Given the description of an element on the screen output the (x, y) to click on. 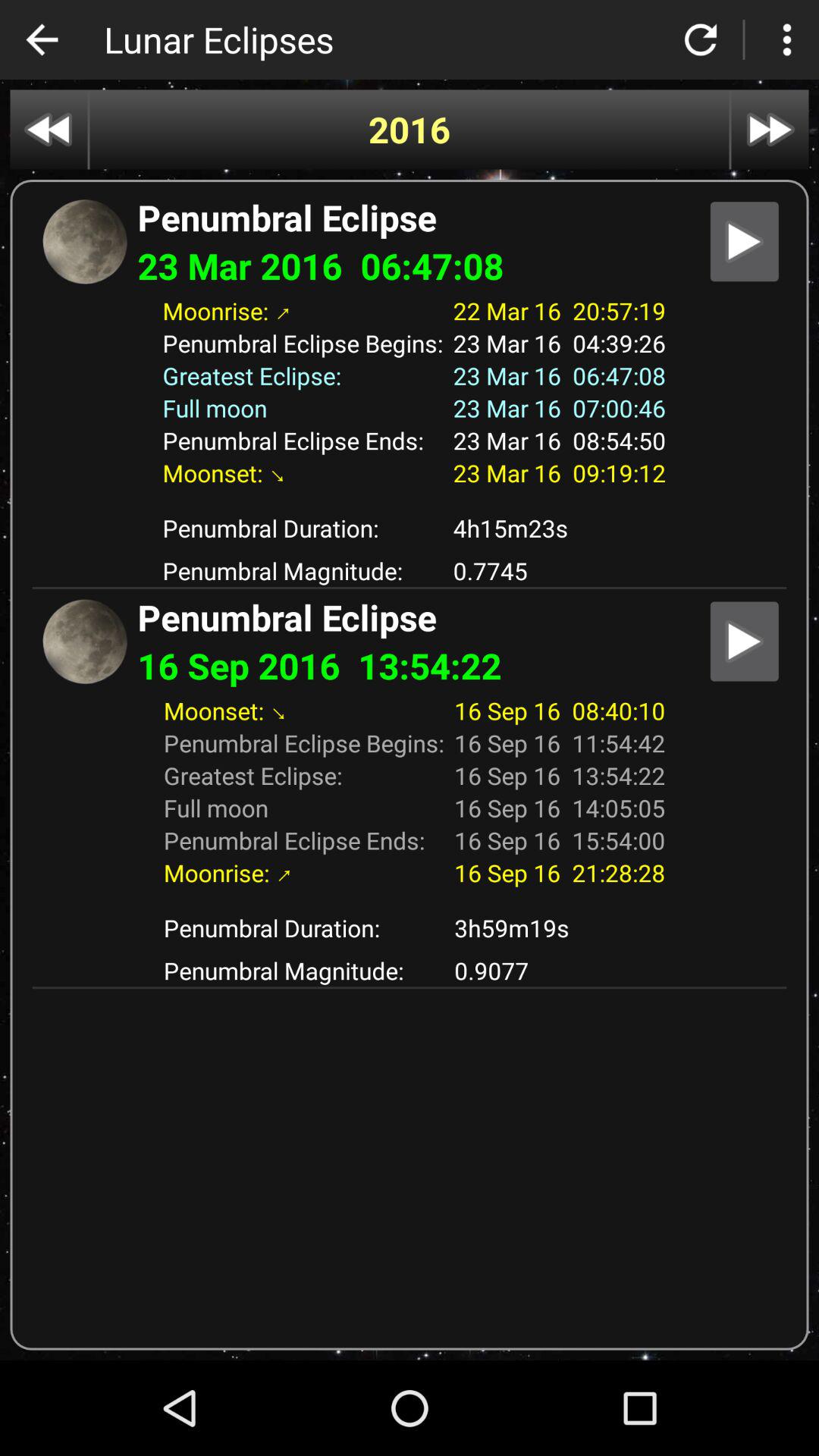
back one year (48, 129)
